Given the description of an element on the screen output the (x, y) to click on. 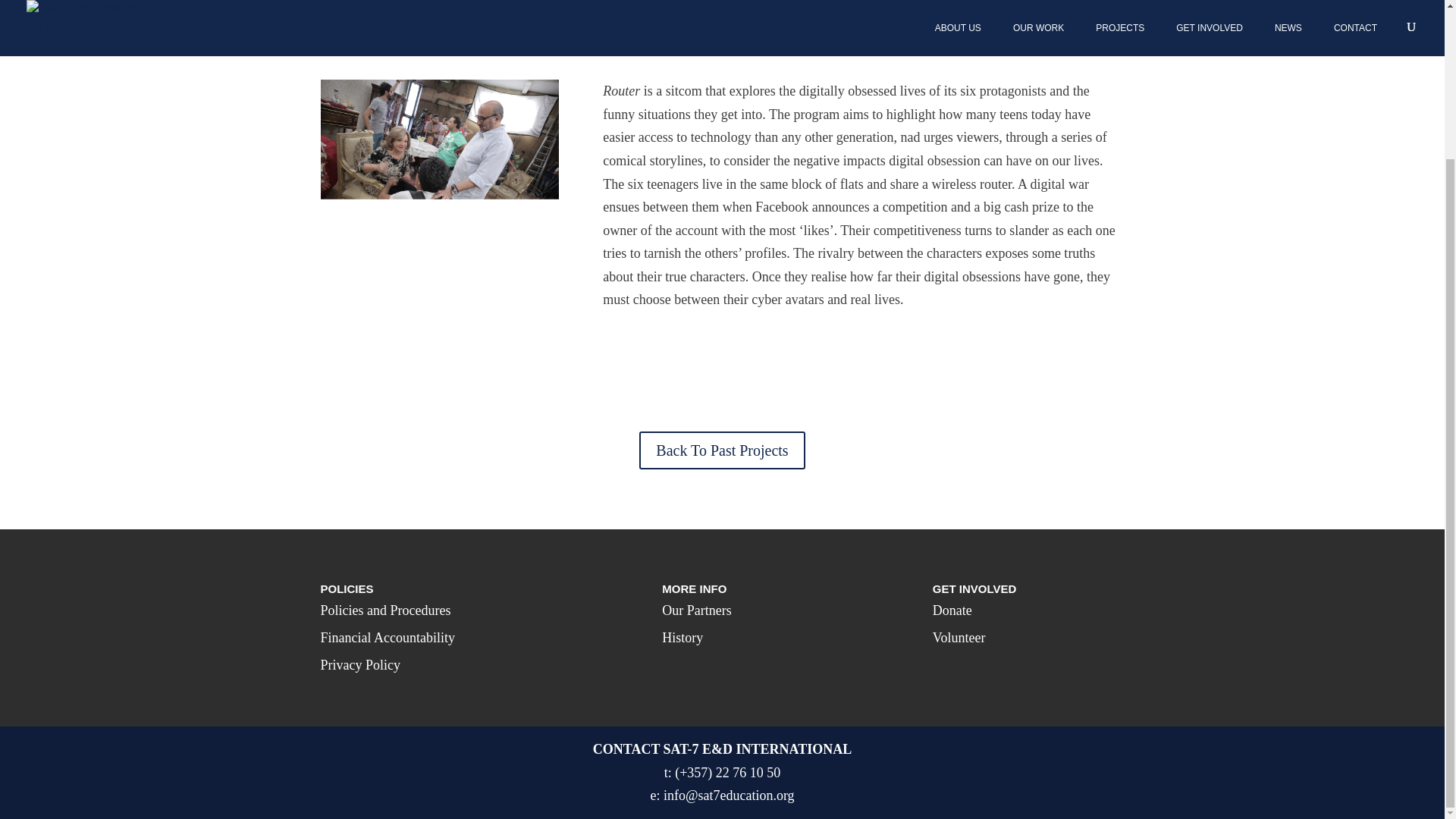
Privacy Policy (360, 664)
Policies and Procedures (384, 610)
History (682, 637)
Our Partners (696, 610)
Financial Accountability (387, 637)
Donate (952, 610)
Back To Past Projects (722, 450)
Volunteer (959, 637)
